Given the description of an element on the screen output the (x, y) to click on. 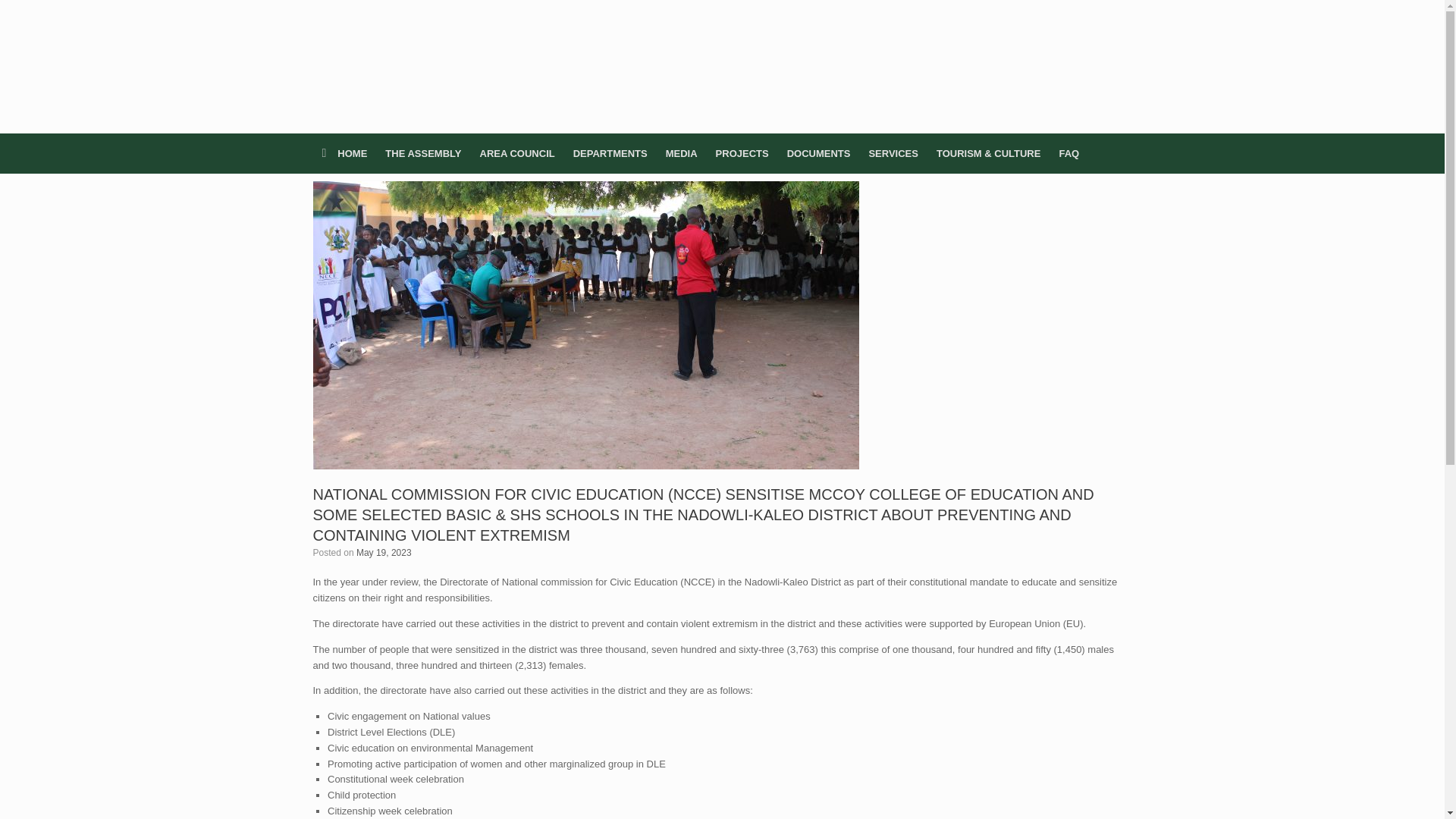
PROJECTS (741, 153)
DOCUMENTS (818, 153)
MEDIA (681, 153)
7:20 pm (384, 552)
SERVICES (893, 153)
DEPARTMENTS (610, 153)
THE ASSEMBLY (422, 153)
HOME (344, 153)
AREA COUNCIL (517, 153)
